Given the description of an element on the screen output the (x, y) to click on. 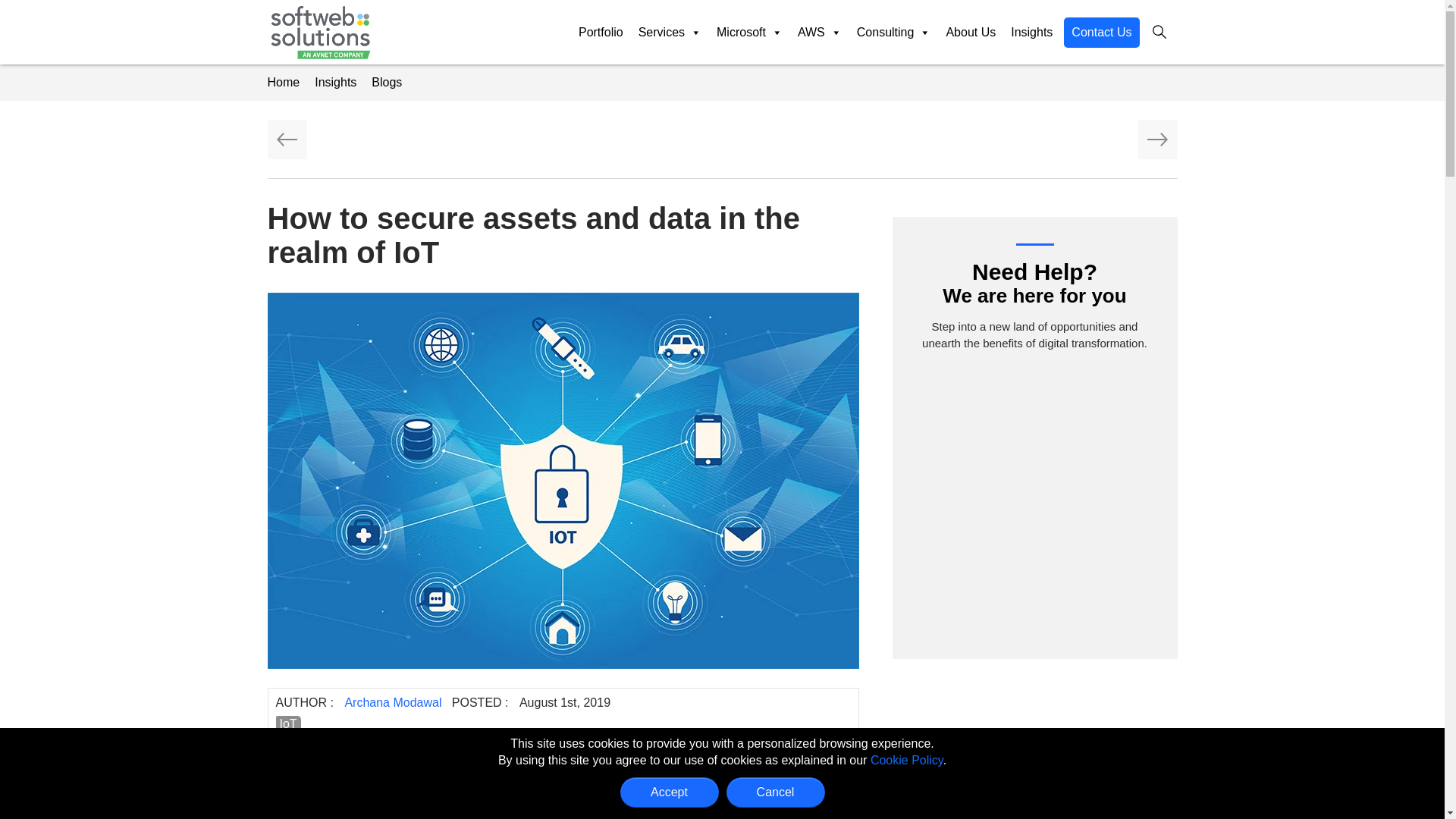
Portfolio (600, 32)
Services (669, 32)
How IoT is transforming healthcare services (1156, 138)
search (1159, 31)
